Given the description of an element on the screen output the (x, y) to click on. 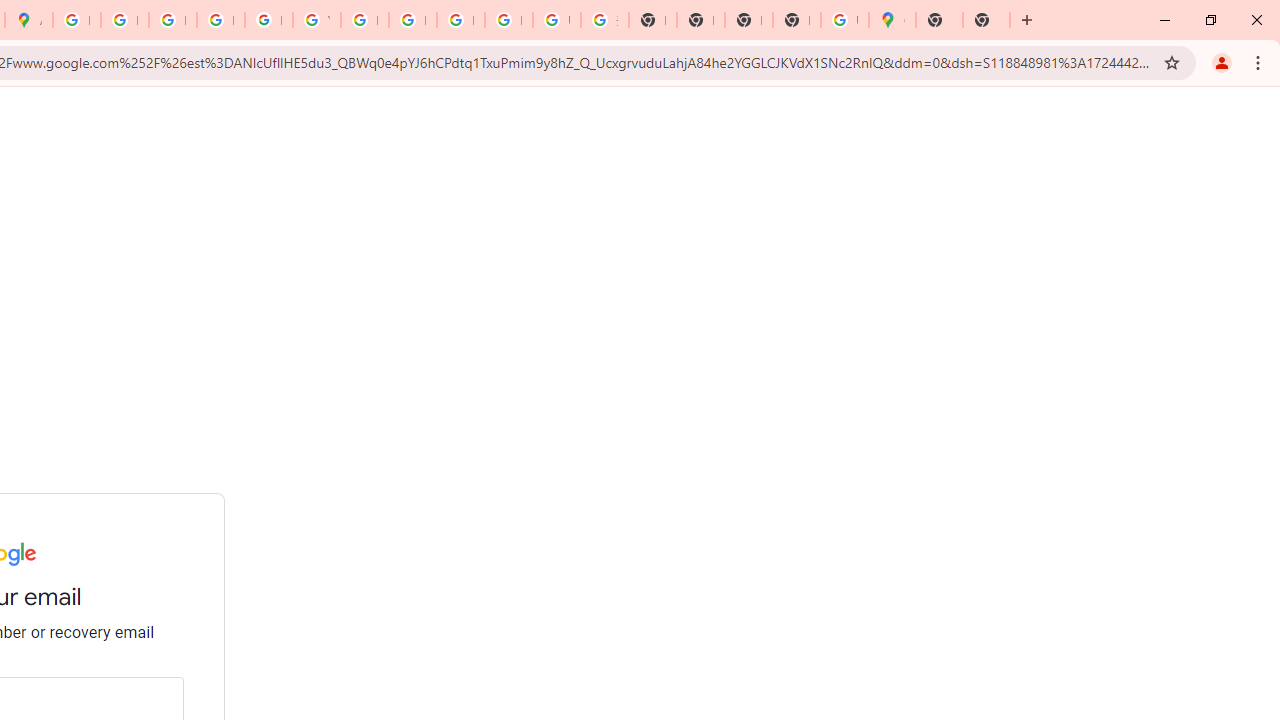
Use Google Maps in Space - Google Maps Help (844, 20)
Google Maps (892, 20)
New Tab (796, 20)
New Tab (939, 20)
Browse Chrome as a guest - Computer - Google Chrome Help (460, 20)
Privacy Help Center - Policies Help (124, 20)
Privacy Help Center - Policies Help (172, 20)
